Given the description of an element on the screen output the (x, y) to click on. 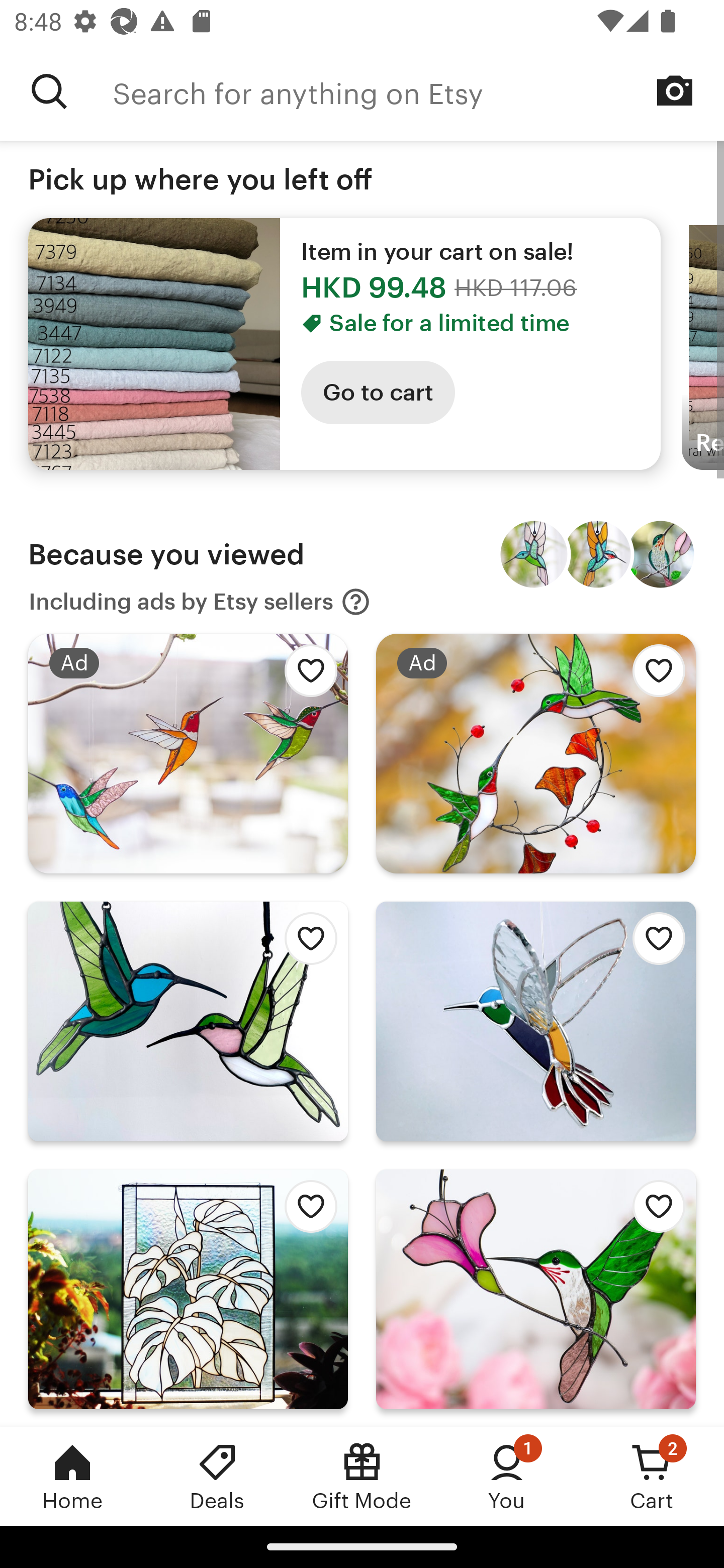
Search for anything on Etsy (49, 91)
Search by image (674, 90)
Search for anything on Etsy (418, 91)
Including ads by Etsy sellers (199, 601)
Deals (216, 1475)
Gift Mode (361, 1475)
You, 1 new notification You (506, 1475)
Cart, 2 new notifications Cart (651, 1475)
